Given the description of an element on the screen output the (x, y) to click on. 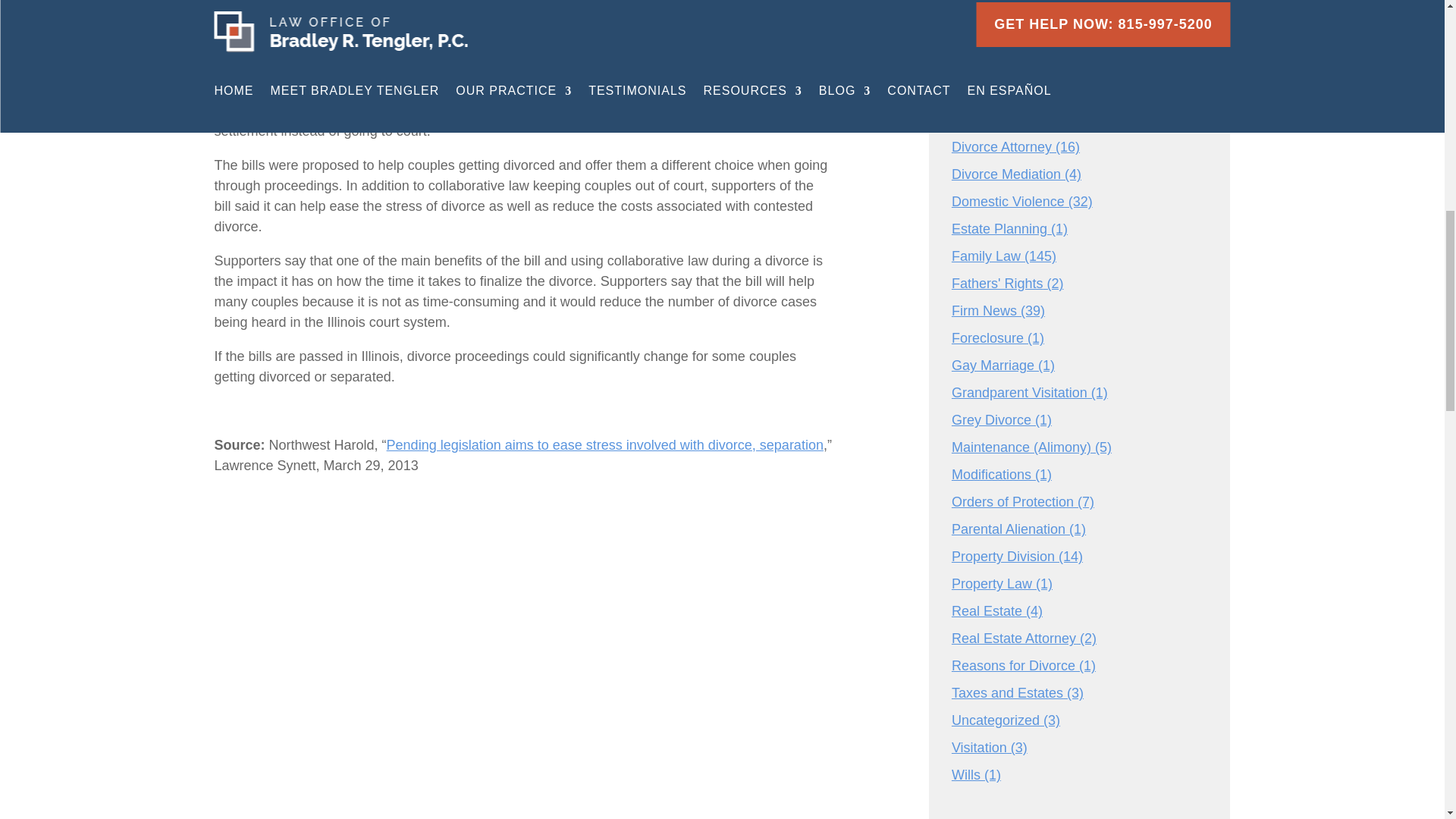
DCFS (970, 92)
Divorce Mediation (1006, 174)
Domestic Violence (1008, 201)
Courtroom Attire (1001, 37)
Divorce (974, 119)
Covid-19 (979, 64)
Collaborative Divorce (1016, 10)
Divorce Attorney (1001, 146)
